Given the description of an element on the screen output the (x, y) to click on. 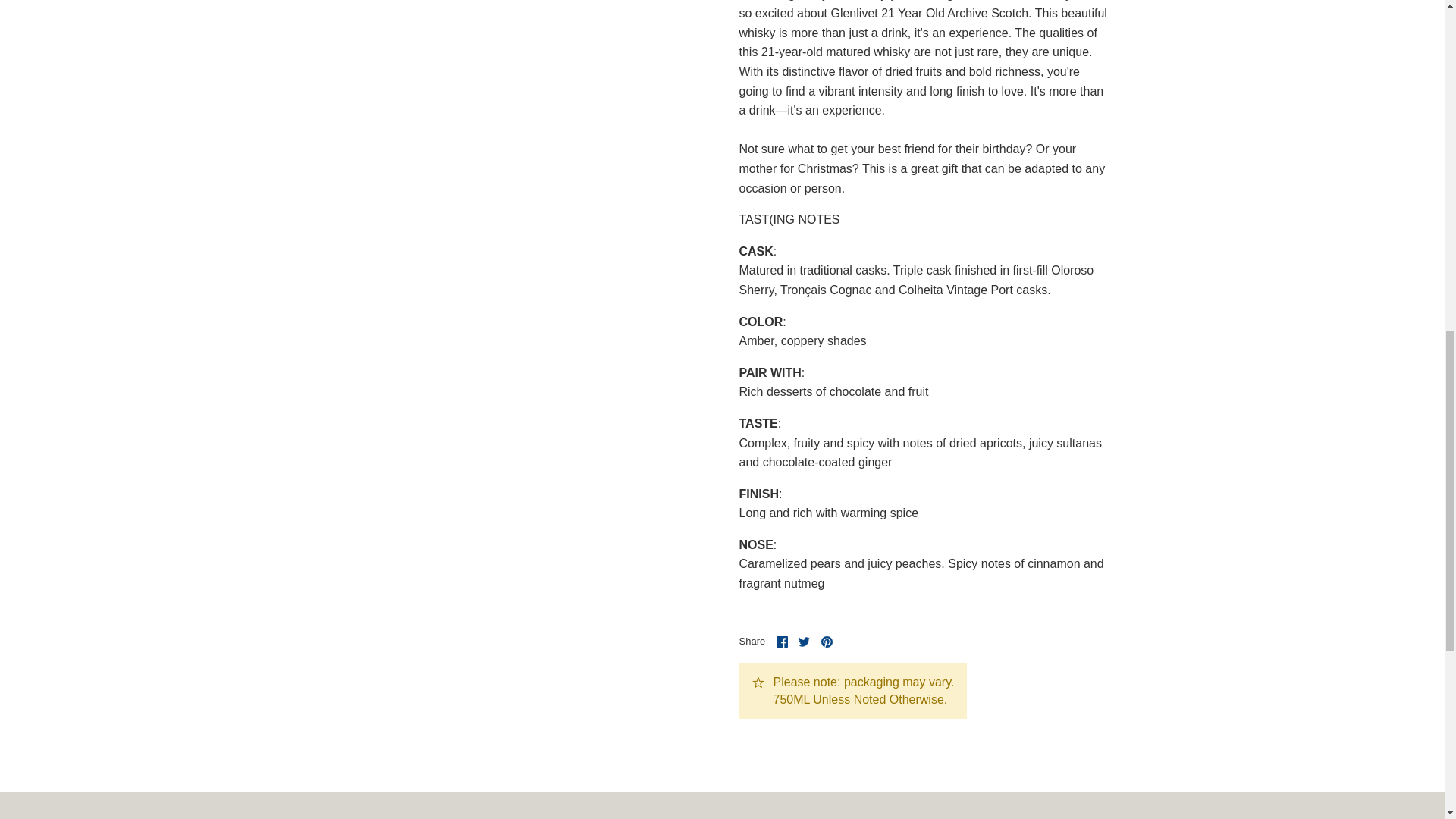
Facebook (781, 641)
Twitter (803, 641)
Pinterest (826, 641)
